Given the description of an element on the screen output the (x, y) to click on. 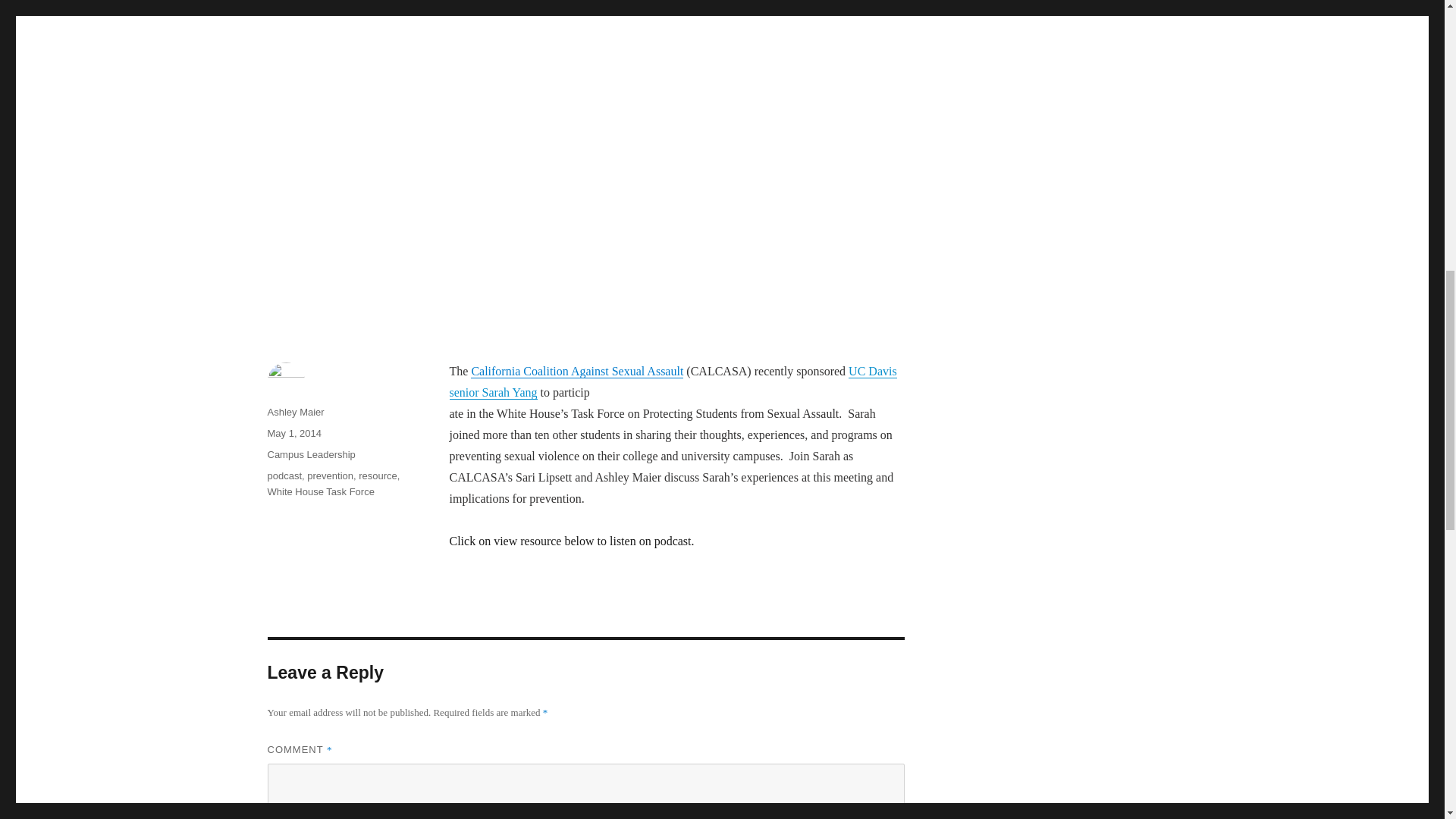
California Coalition Against Sexual Assault (576, 370)
Campus Leadership (310, 454)
May 1, 2014 (293, 432)
UC Davis senior Sarah Yang (672, 381)
prevention (330, 475)
resource (377, 475)
podcast (283, 475)
Ashley Maier (294, 411)
White House Task Force (320, 491)
